Given the description of an element on the screen output the (x, y) to click on. 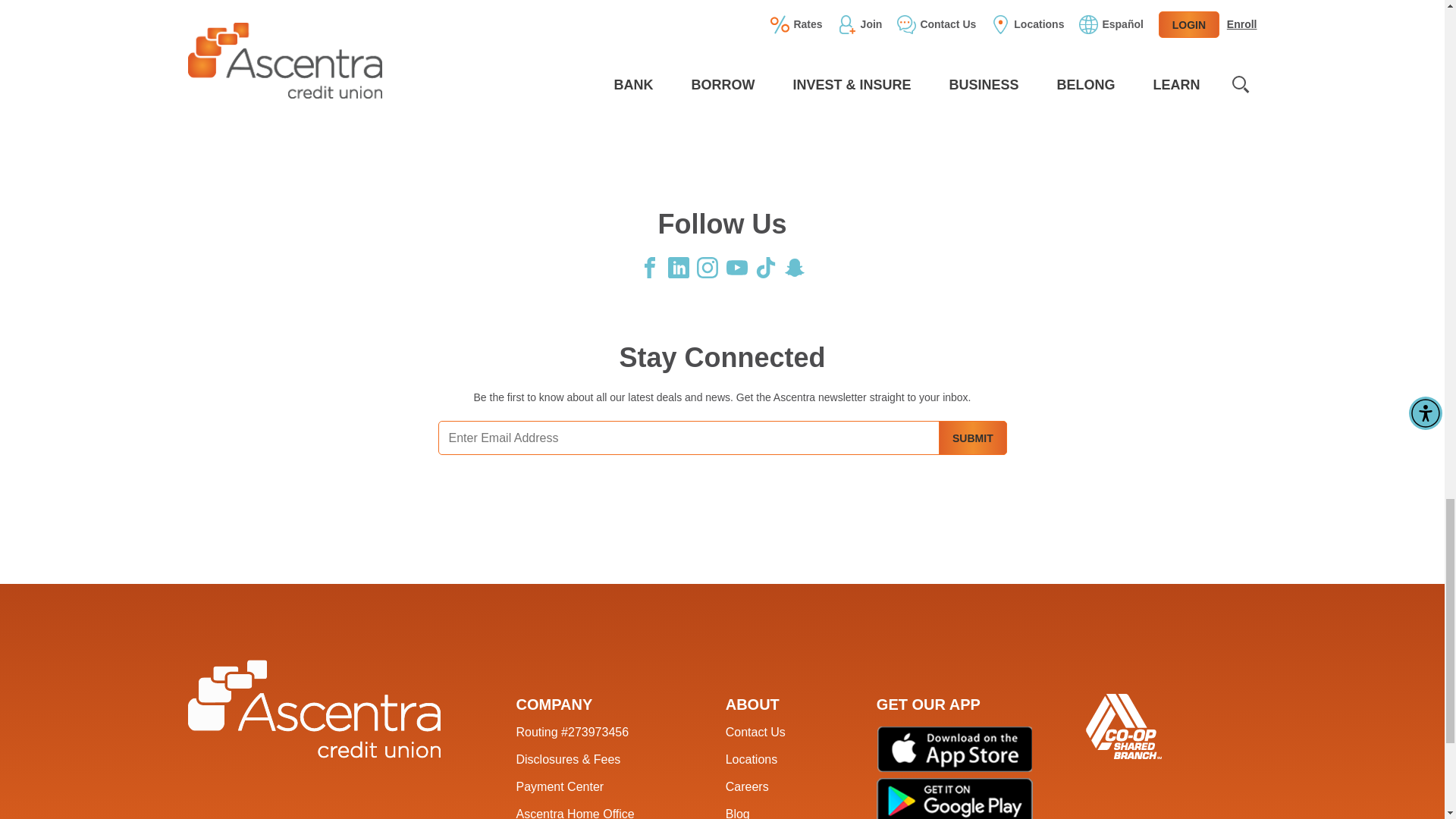
coop-shared (1123, 726)
app-store (954, 749)
acentra-logo-white (314, 709)
google-play (954, 798)
